Given the description of an element on the screen output the (x, y) to click on. 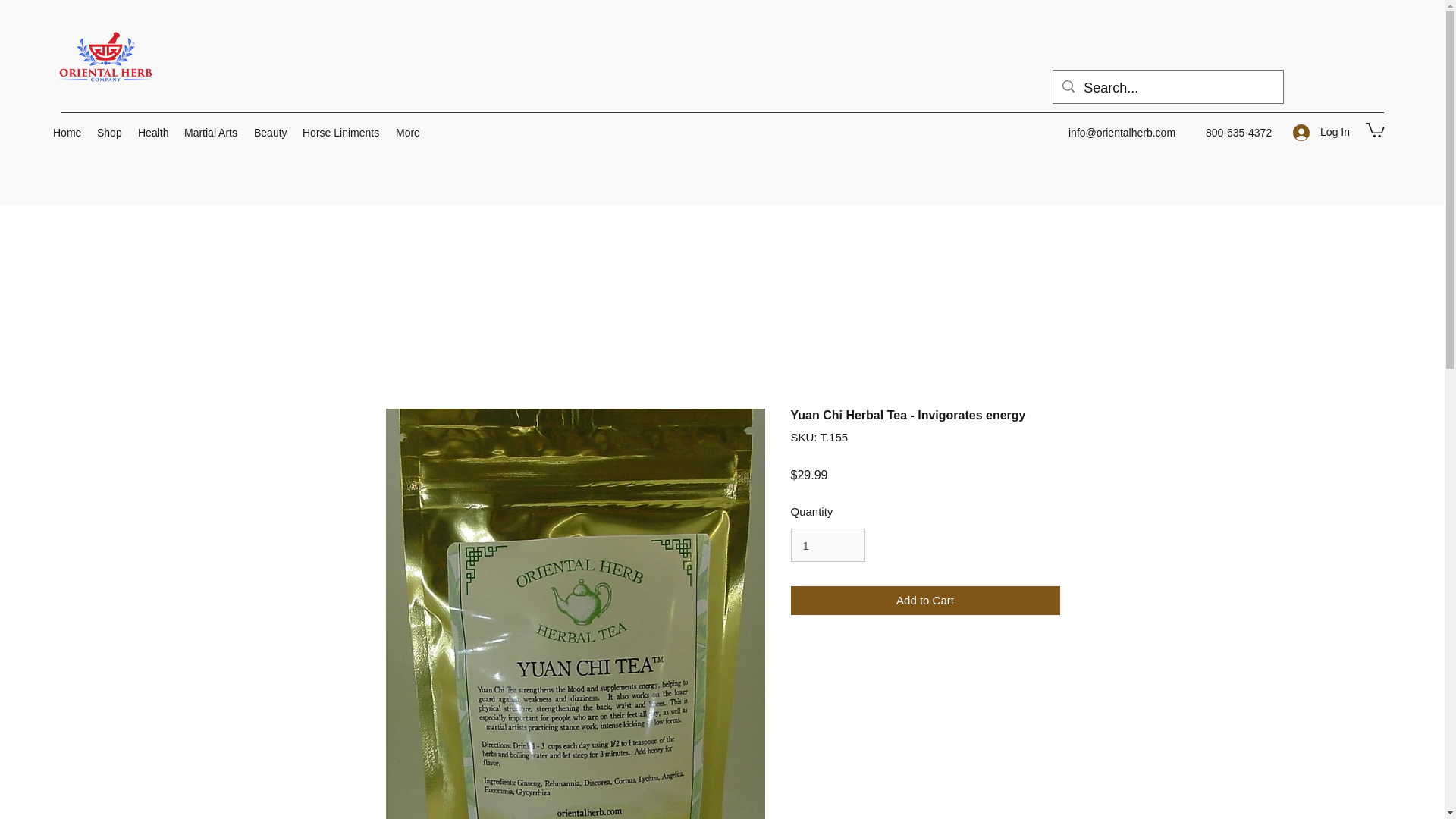
Shop (109, 132)
Horse Liniments (341, 132)
Log In (1320, 131)
Home (66, 132)
Add to Cart (924, 600)
1 (827, 544)
